Given the description of an element on the screen output the (x, y) to click on. 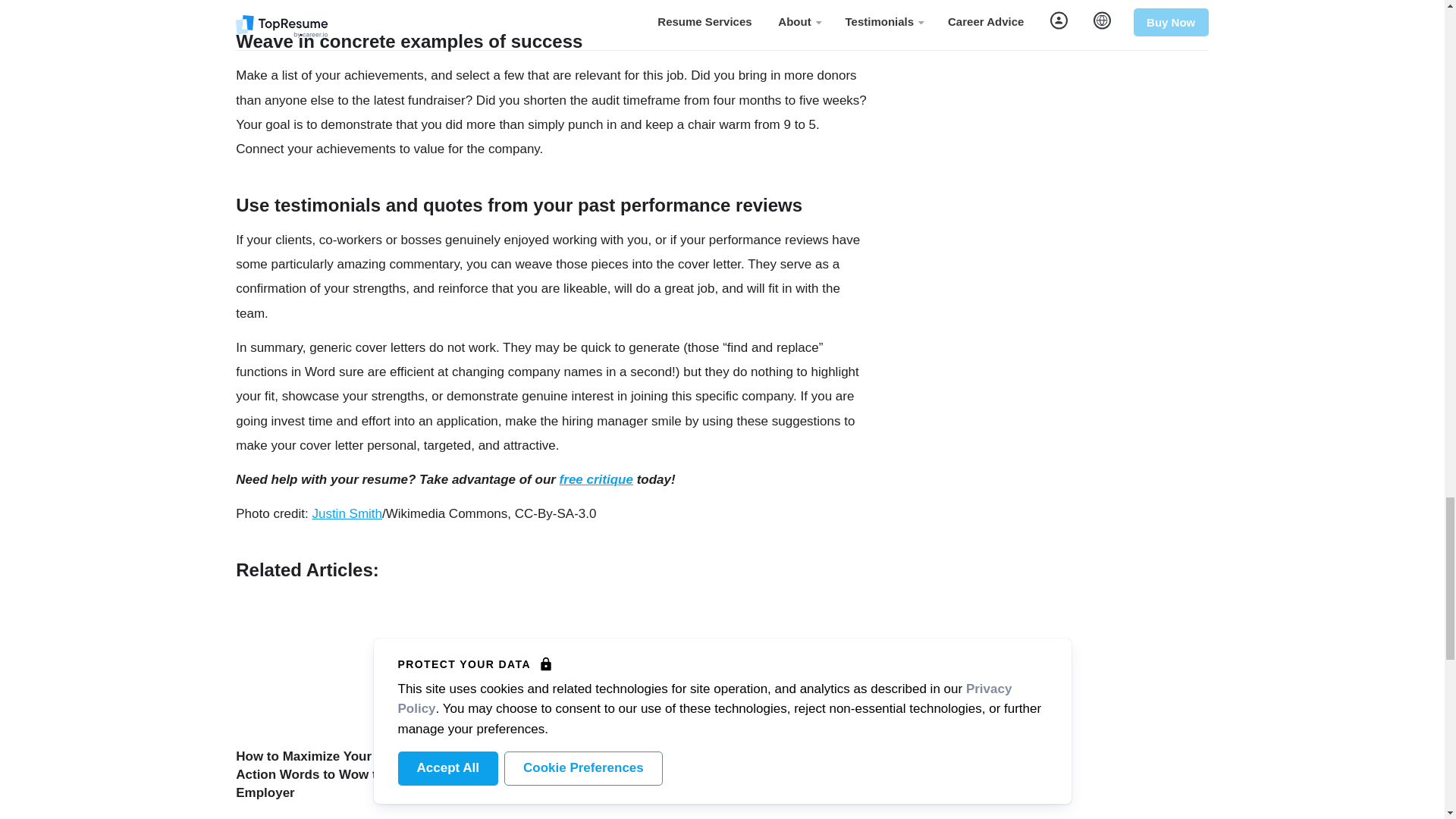
free critique (596, 479)
How to Maximize Your Resume Action Words to Wow the Employer (330, 774)
free critique (596, 479)
Justin Smith (346, 513)
